Given the description of an element on the screen output the (x, y) to click on. 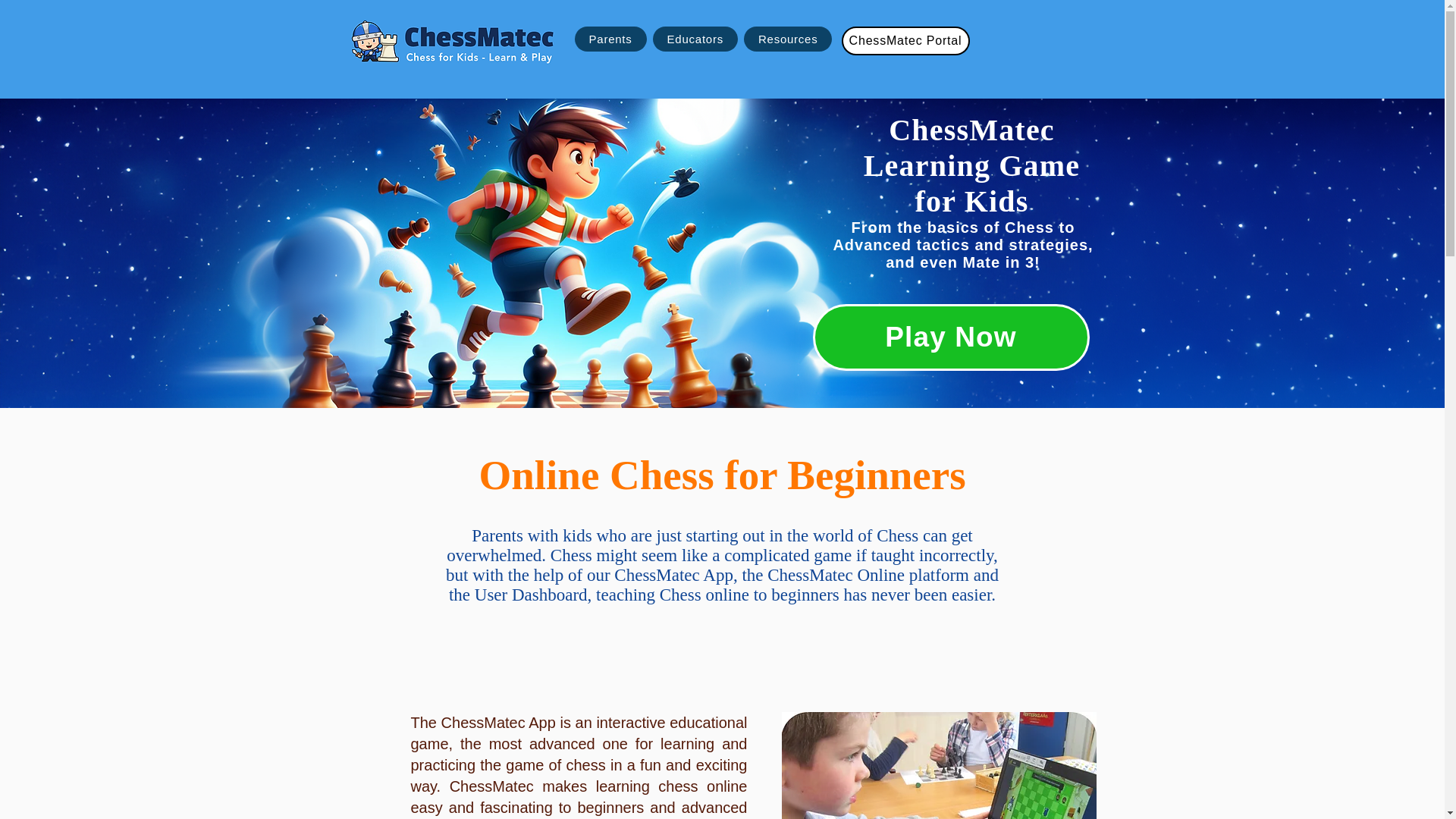
ChessMatec Portal (905, 40)
Play Now (950, 337)
